Given the description of an element on the screen output the (x, y) to click on. 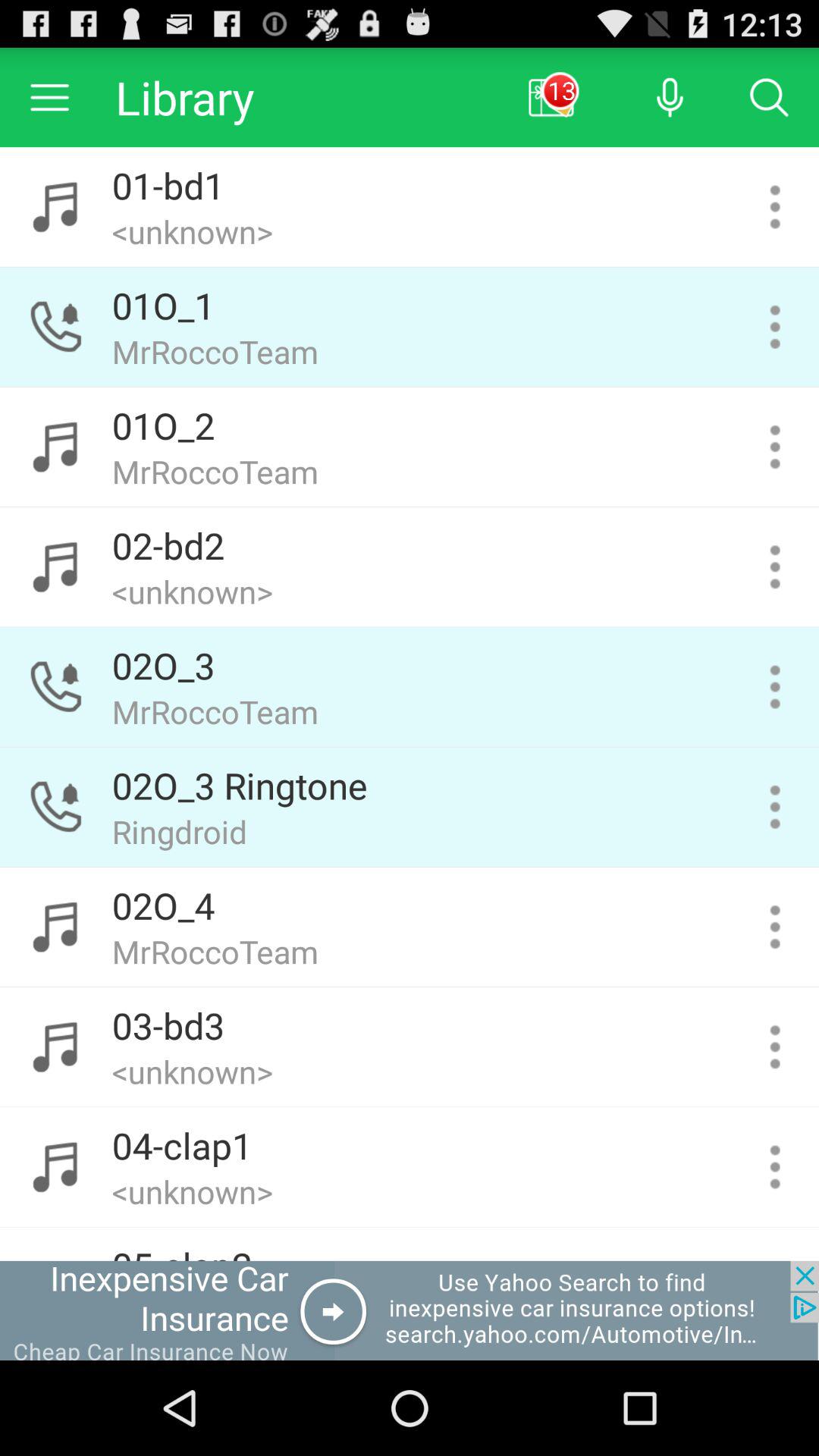
page actions (775, 446)
